Given the description of an element on the screen output the (x, y) to click on. 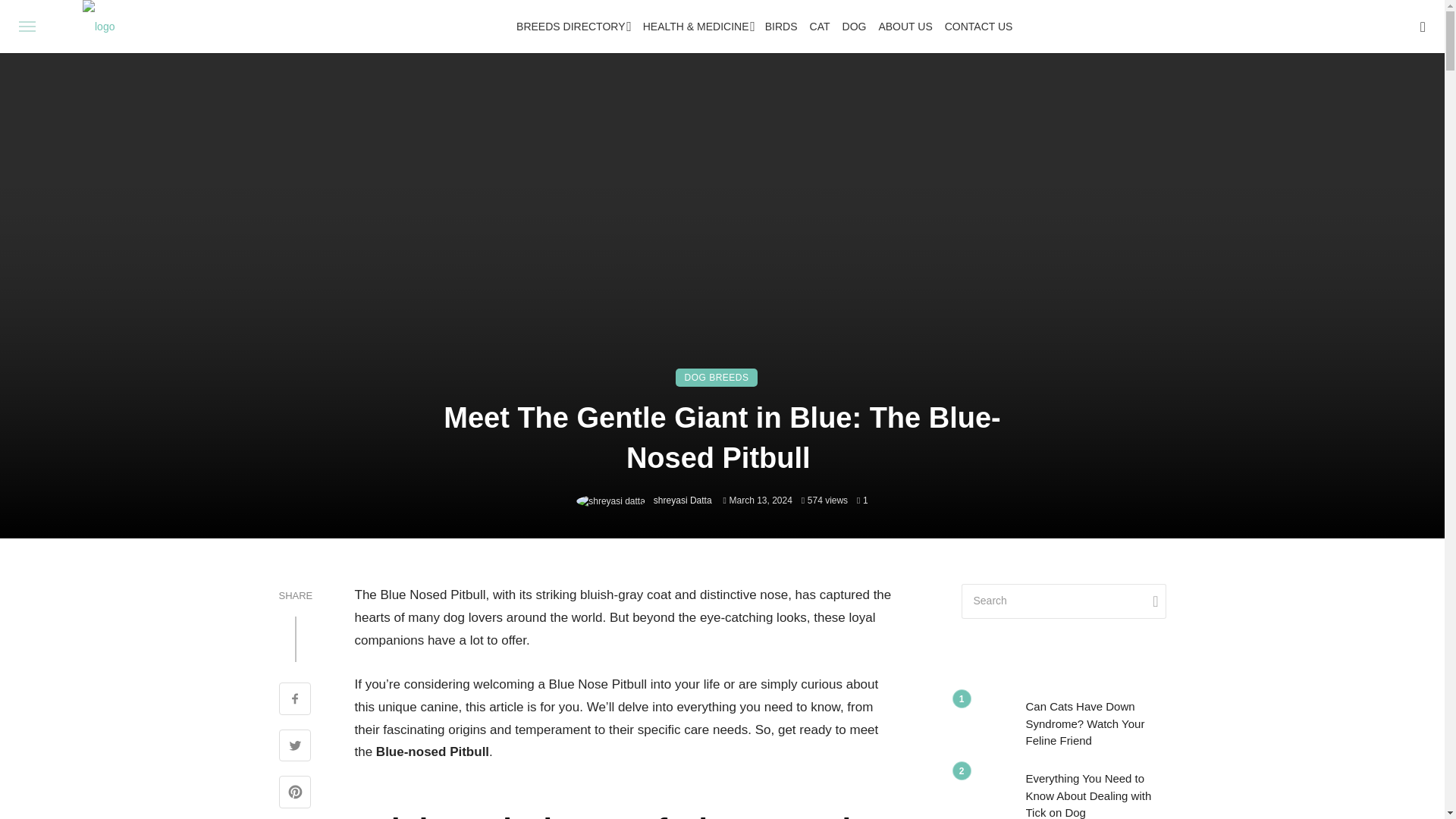
ABOUT US (904, 26)
DOG BREEDS (716, 377)
March 13, 2024 at 11:40 am (757, 500)
1 Comment (862, 500)
1 (862, 500)
CONTACT US (979, 26)
Share on Twitter (295, 747)
BREEDS DIRECTORY (571, 26)
Share on Facebook (295, 700)
Share on Pinterest (295, 793)
Shreyasi Datta (680, 500)
